Given the description of an element on the screen output the (x, y) to click on. 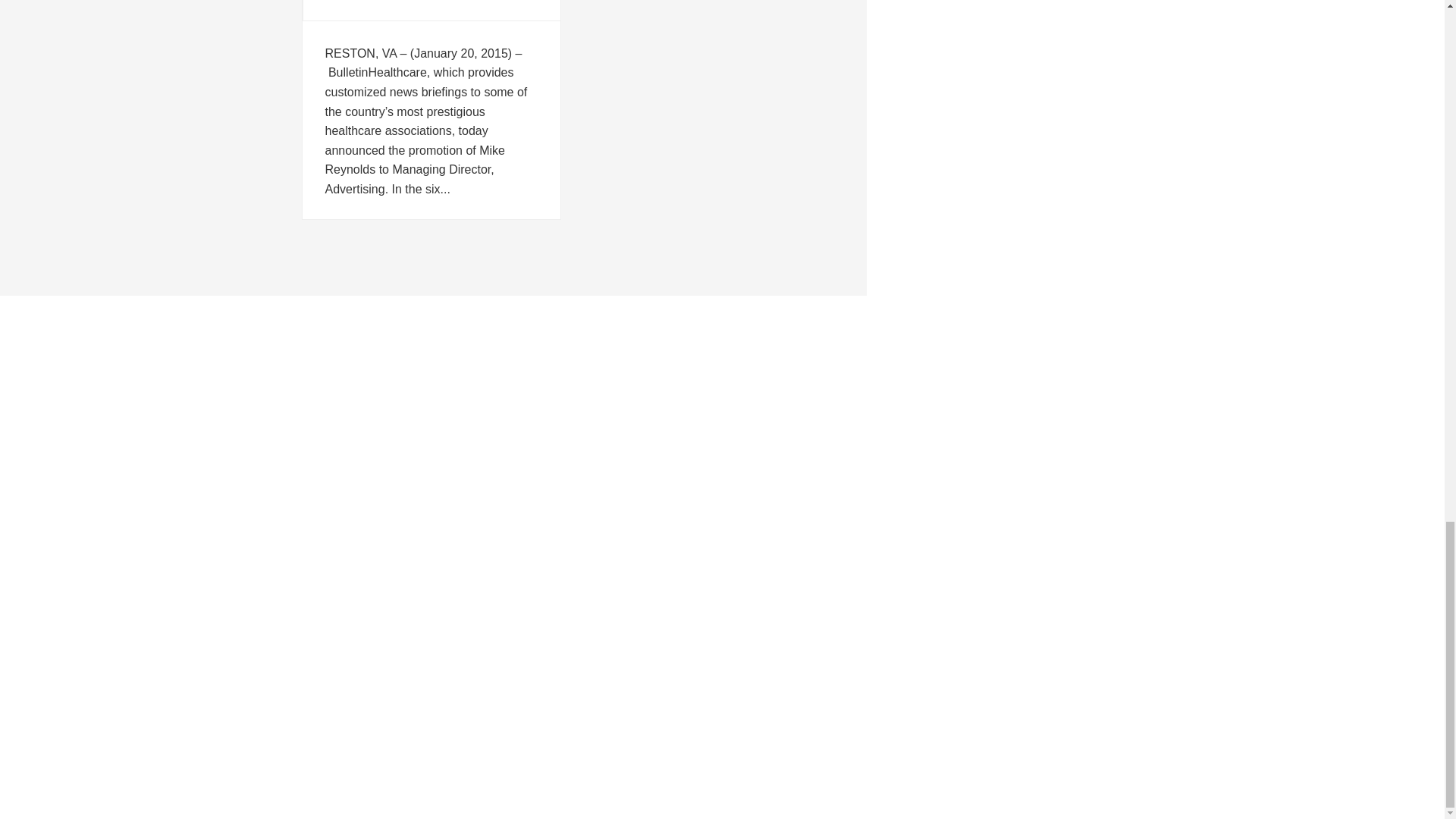
What Engineers Care About: June Edition (721, 393)
Cision (304, 530)
GDPR (305, 607)
Careers (309, 574)
What Engineers Care About: May Edition (721, 417)
What Engineers Care About: July Edition (721, 369)
Media Kits (314, 558)
Cookie Settings (327, 623)
Privacy Policy (323, 591)
BulletinHealthcare (333, 512)
